Given the description of an element on the screen output the (x, y) to click on. 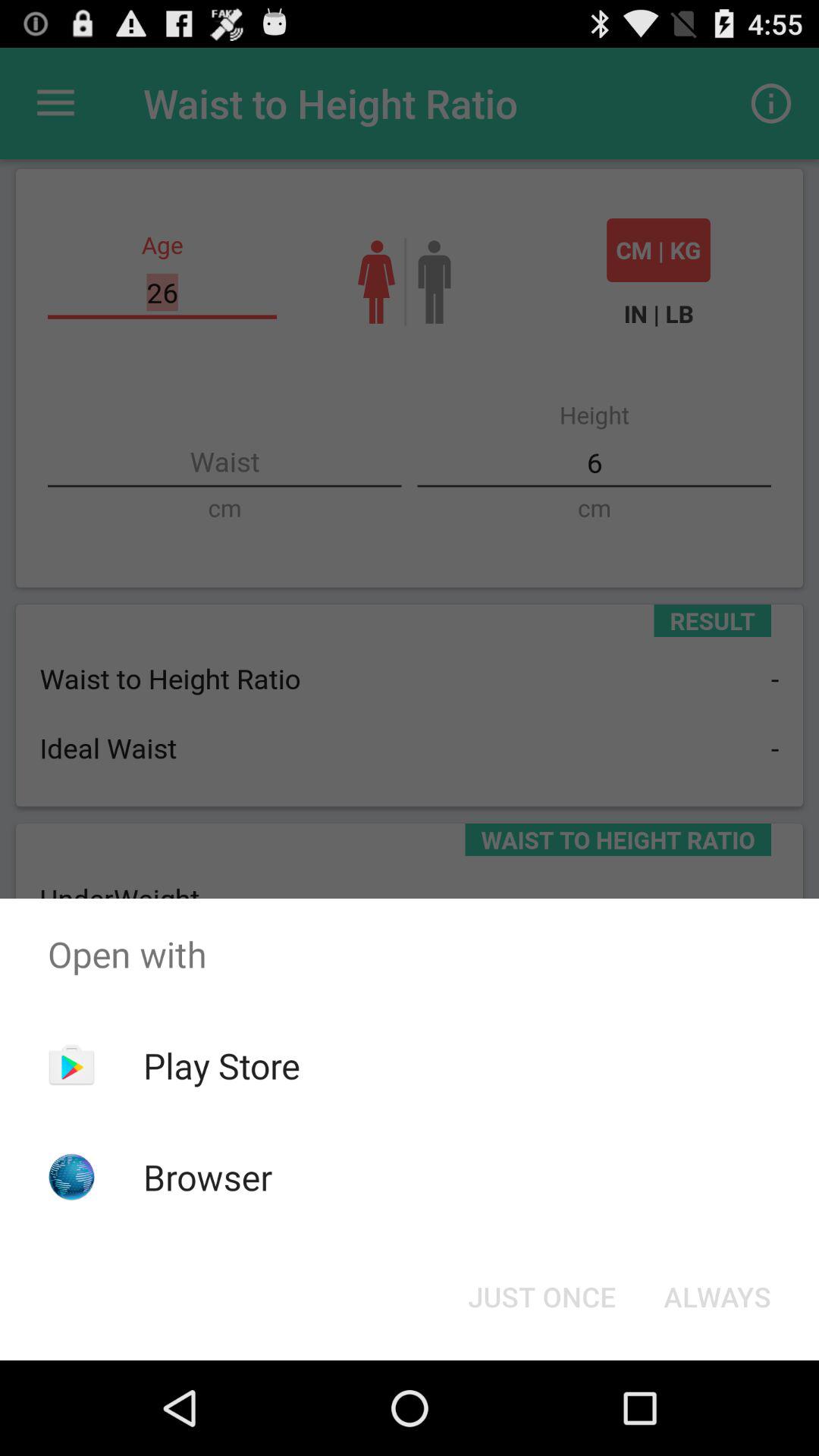
click the app below open with item (541, 1296)
